Given the description of an element on the screen output the (x, y) to click on. 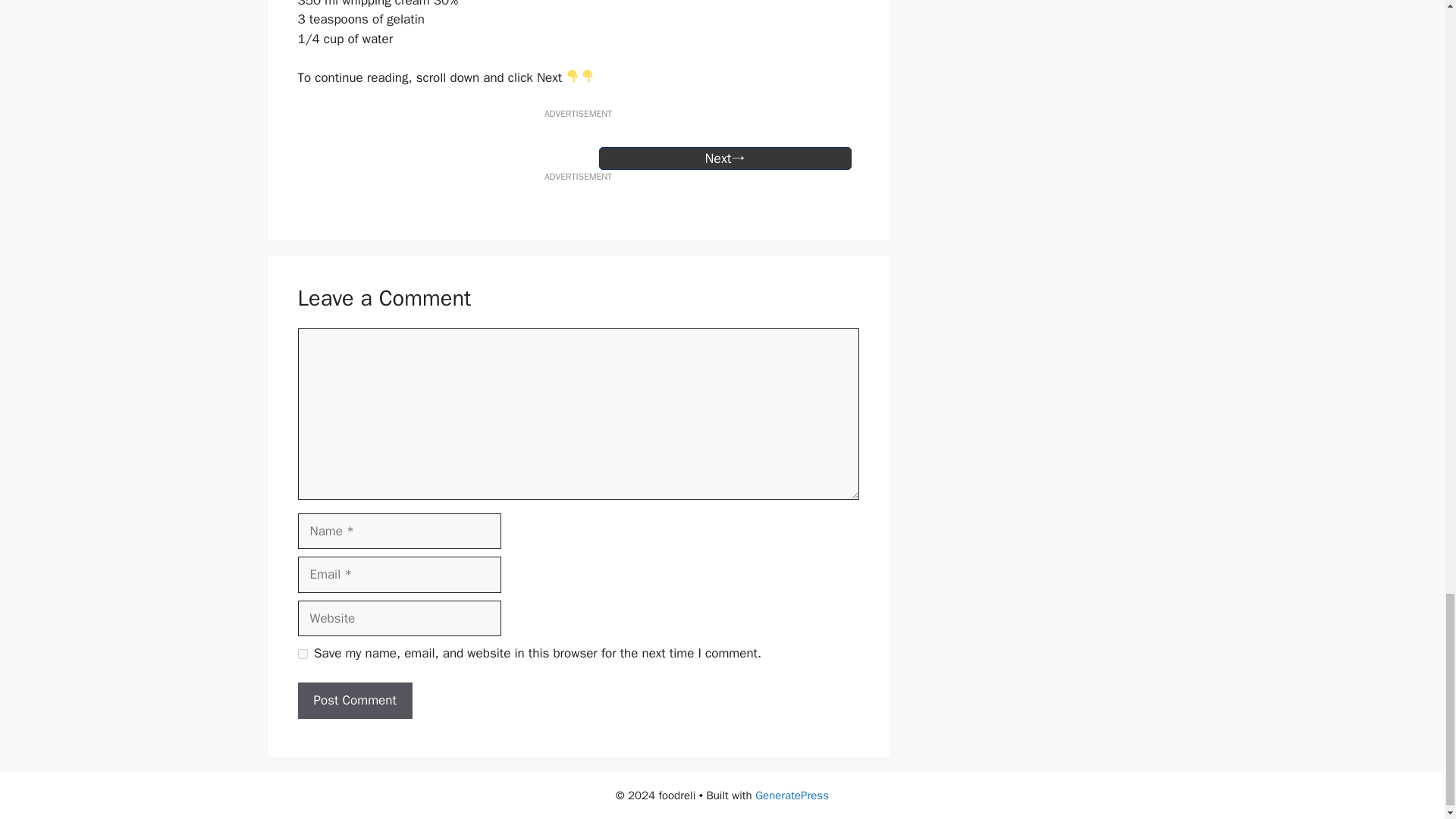
Post Comment (354, 700)
GeneratePress (791, 795)
Post Comment (354, 700)
yes (302, 654)
